Given the description of an element on the screen output the (x, y) to click on. 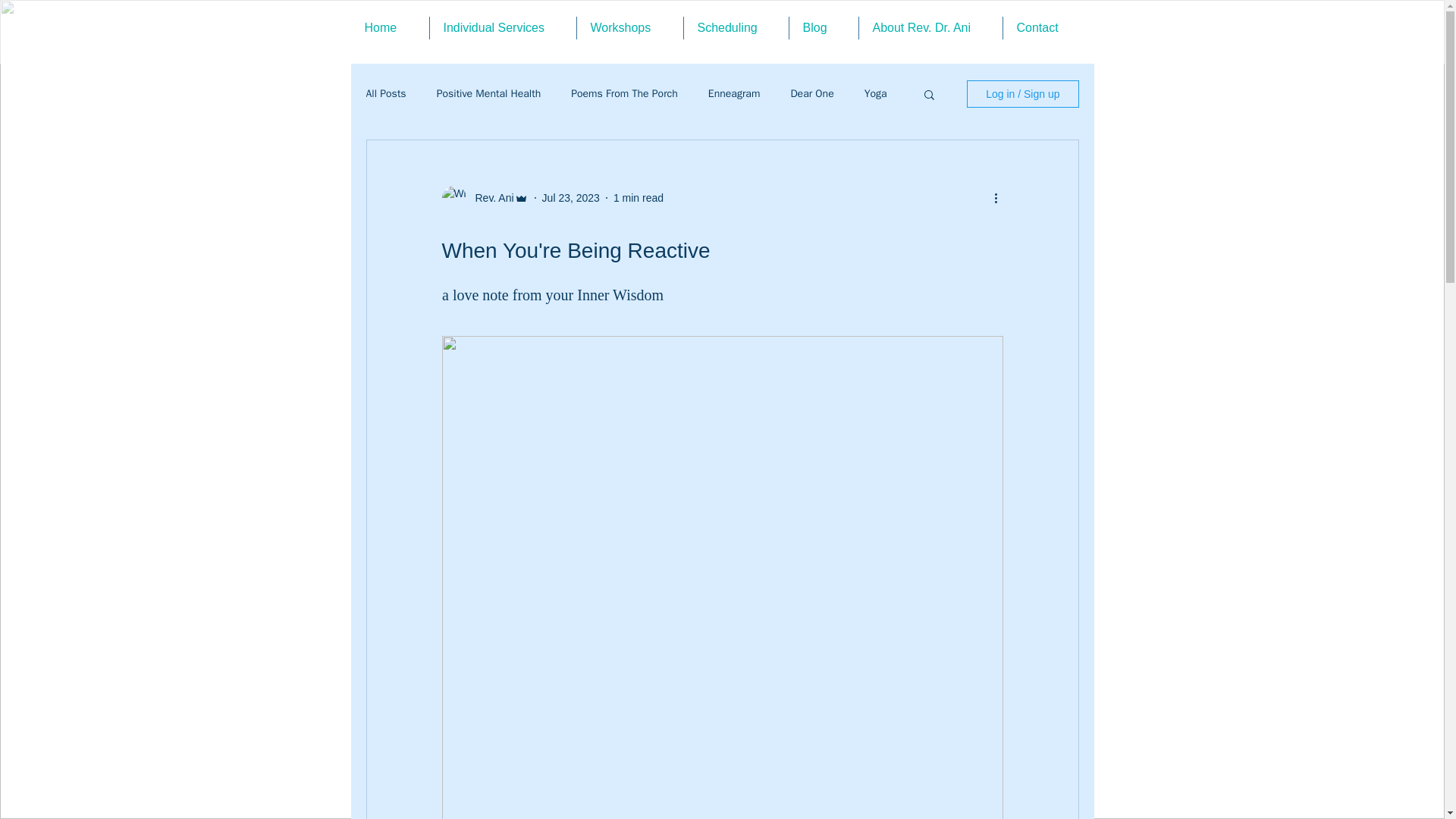
Enneagram (733, 93)
Poems From The Porch (624, 93)
Jul 23, 2023 (570, 196)
About Rev. Dr. Ani (930, 27)
Individual Services (502, 27)
Positive Mental Health (488, 93)
All Posts (385, 93)
Home (389, 27)
1 min read (637, 196)
Scheduling (736, 27)
